Given the description of an element on the screen output the (x, y) to click on. 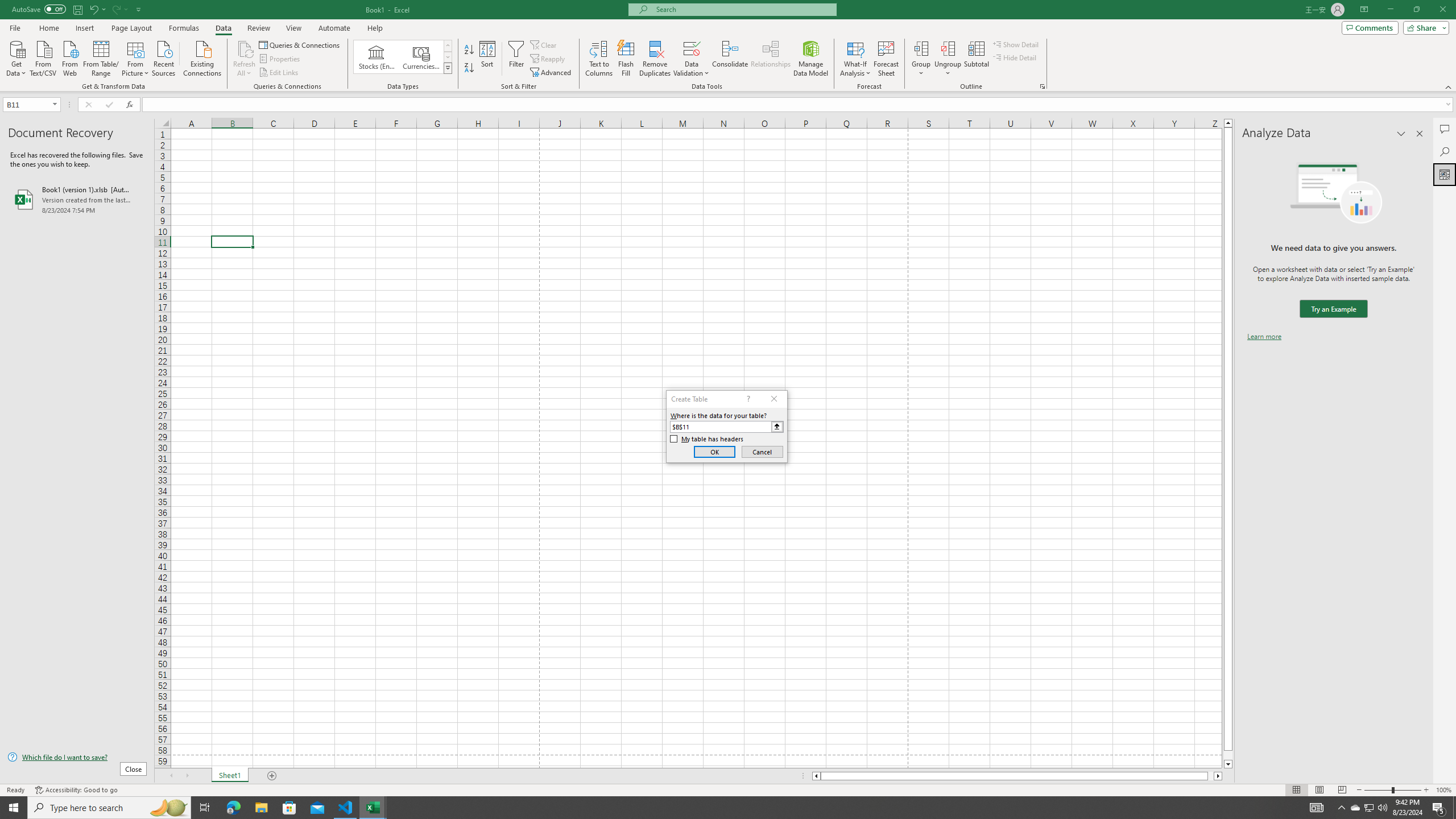
Line up (1228, 122)
Book1 (version 1).xlsb  [AutoRecovered] (77, 199)
Accessibility Checker Accessibility: Good to go (76, 790)
AutomationID: ConvertToLinkedEntity (403, 56)
Consolidate... (729, 58)
File Tab (15, 27)
Existing Connections (202, 57)
Forecast Sheet (885, 58)
Ribbon Display Options (1364, 9)
Sheet1 (229, 775)
Relationships (770, 58)
Microsoft search (742, 9)
From Picture (135, 57)
Row up (448, 45)
